Given the description of an element on the screen output the (x, y) to click on. 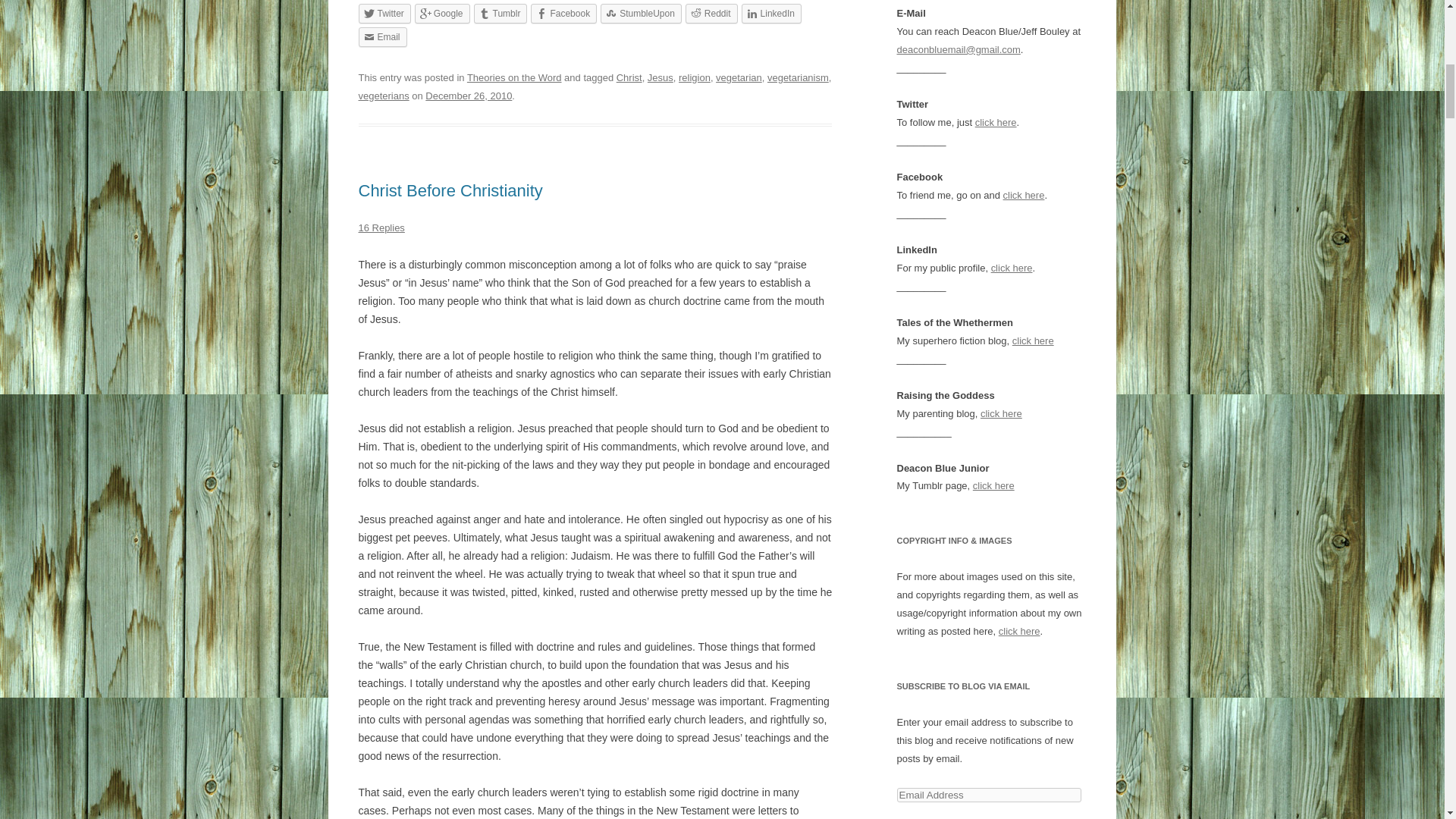
Twitter (384, 13)
Tumblr (500, 13)
Click to share on Twitter (384, 13)
Christ (628, 77)
Click to share on StumbleUpon (640, 13)
Theories on the Word (514, 77)
Google (442, 13)
Email (382, 36)
Click to share on Reddit (711, 13)
11:14 pm (468, 95)
Reddit (711, 13)
Jesus (659, 77)
StumbleUpon (640, 13)
Click to share on Tumblr (500, 13)
Facebook (563, 13)
